Given the description of an element on the screen output the (x, y) to click on. 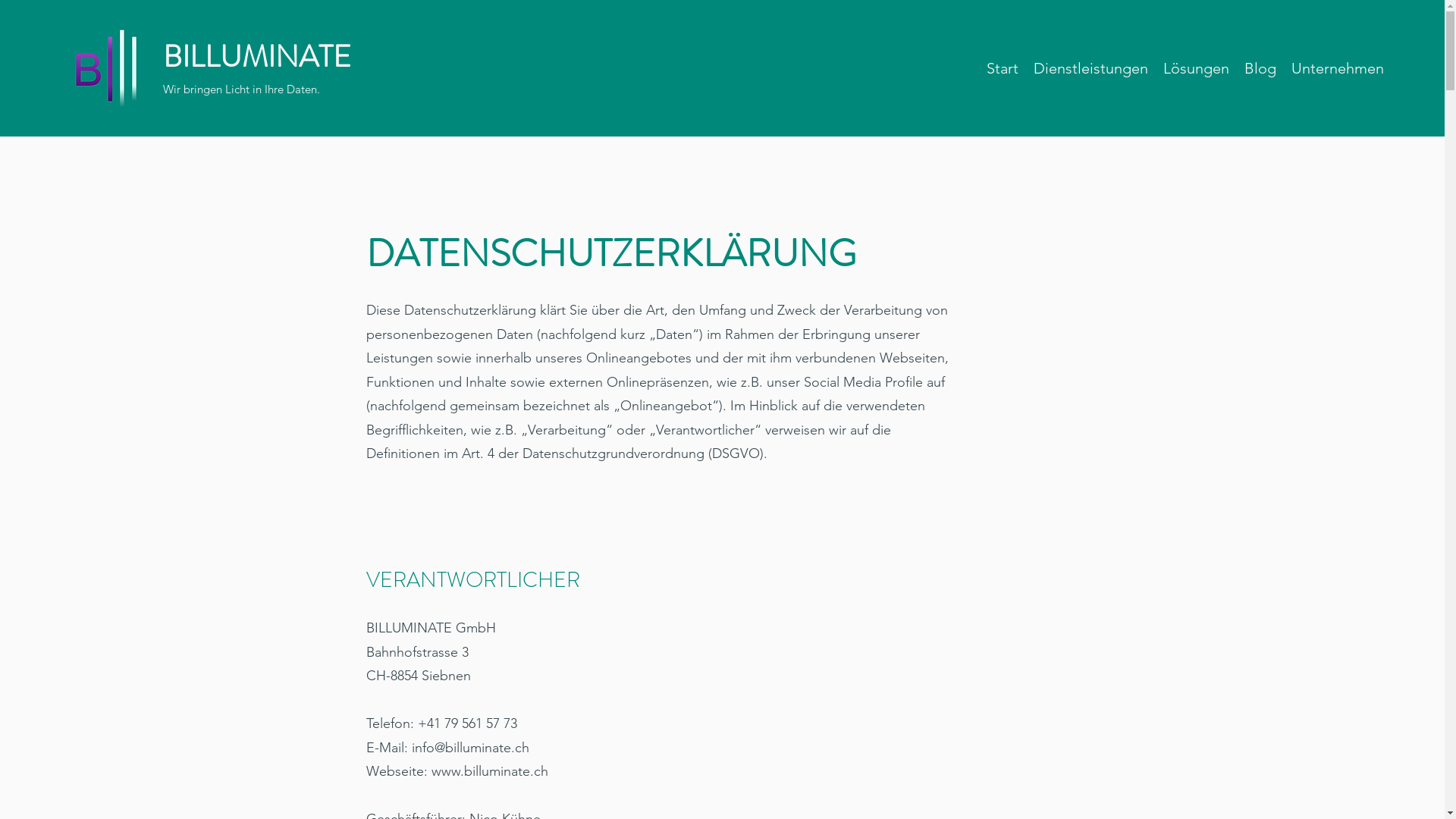
Blog Element type: text (1259, 67)
info@billuminate.ch Element type: text (469, 747)
Start Element type: text (1002, 67)
www.billuminate.ch Element type: text (488, 770)
Dienstleistungen Element type: text (1090, 67)
Unternehmen Element type: text (1337, 67)
